Given the description of an element on the screen output the (x, y) to click on. 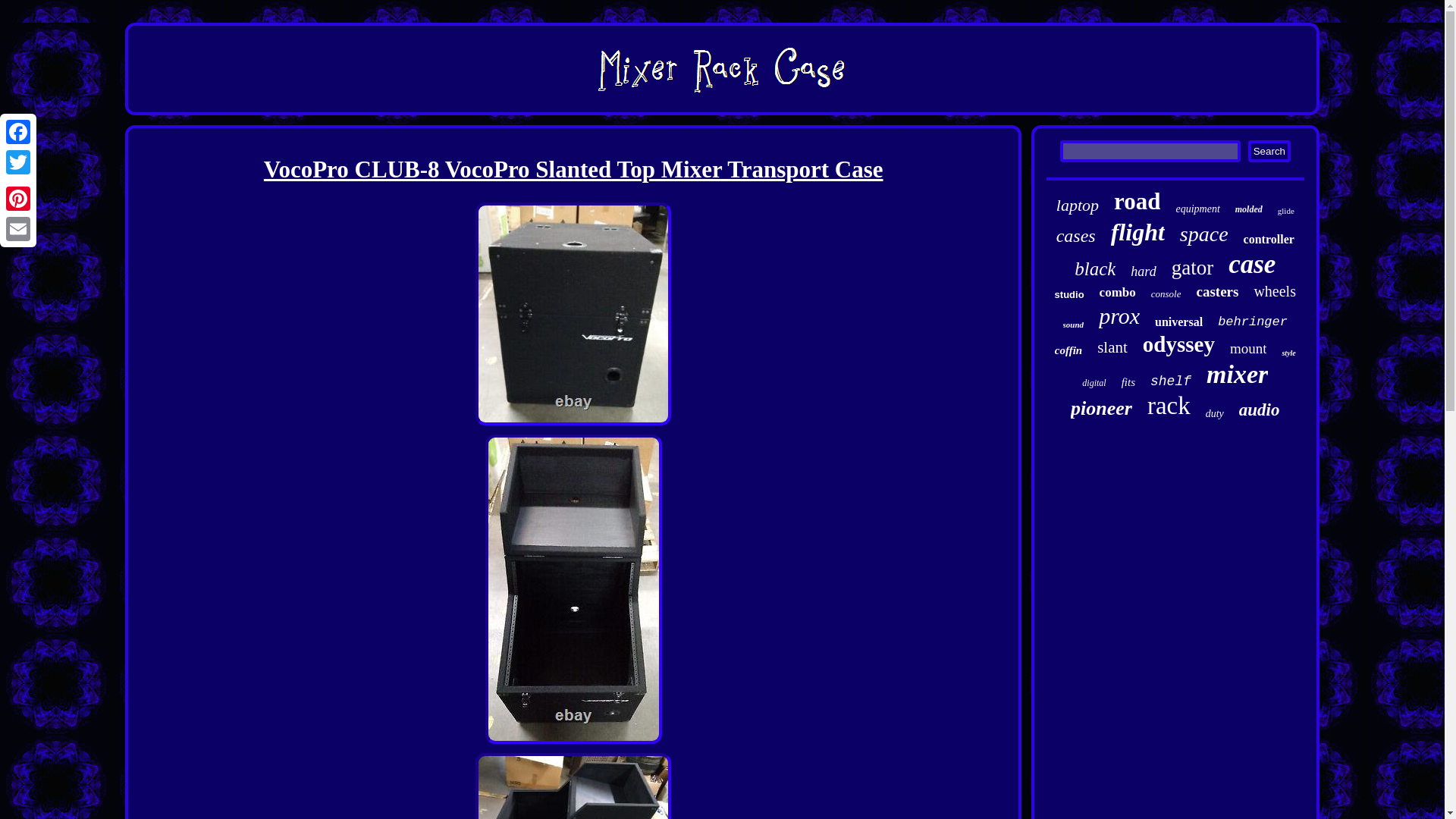
controller (1268, 239)
casters (1217, 291)
Facebook (17, 132)
case (1251, 264)
combo (1117, 292)
Email (17, 228)
sound (1073, 324)
Twitter (17, 162)
equipment (1197, 209)
console (1165, 294)
VocoPro CLUB-8 VocoPro Slanted Top Mixer Transport Case (573, 785)
Pinterest (17, 198)
studio (1069, 294)
cases (1076, 236)
road (1136, 201)
